Given the description of an element on the screen output the (x, y) to click on. 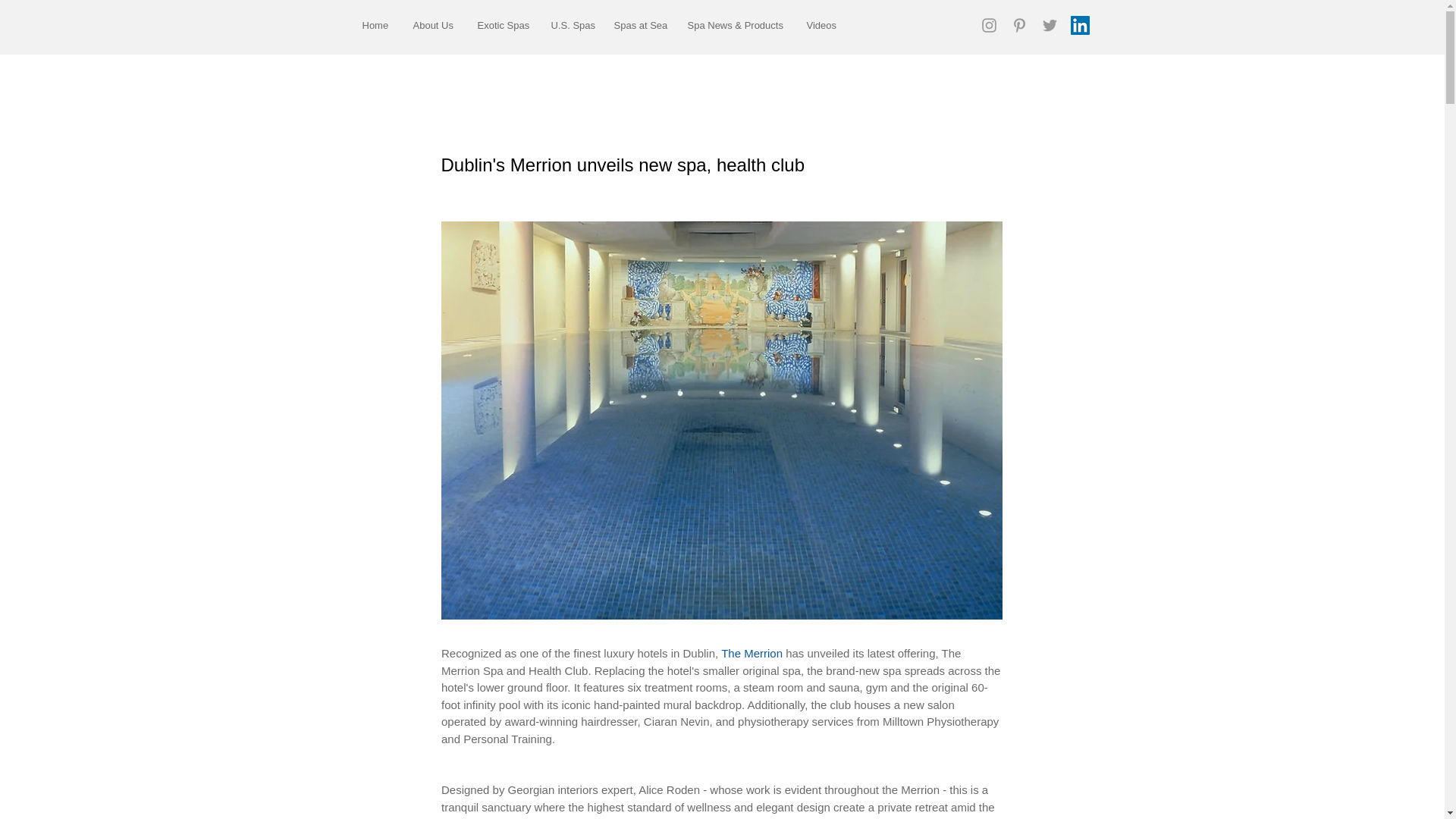
U.S. Spas (571, 25)
Exotic Spas (501, 25)
Spas at Sea (638, 25)
The Merrion (751, 653)
About Us (433, 25)
Home (375, 25)
Videos (820, 25)
